Given the description of an element on the screen output the (x, y) to click on. 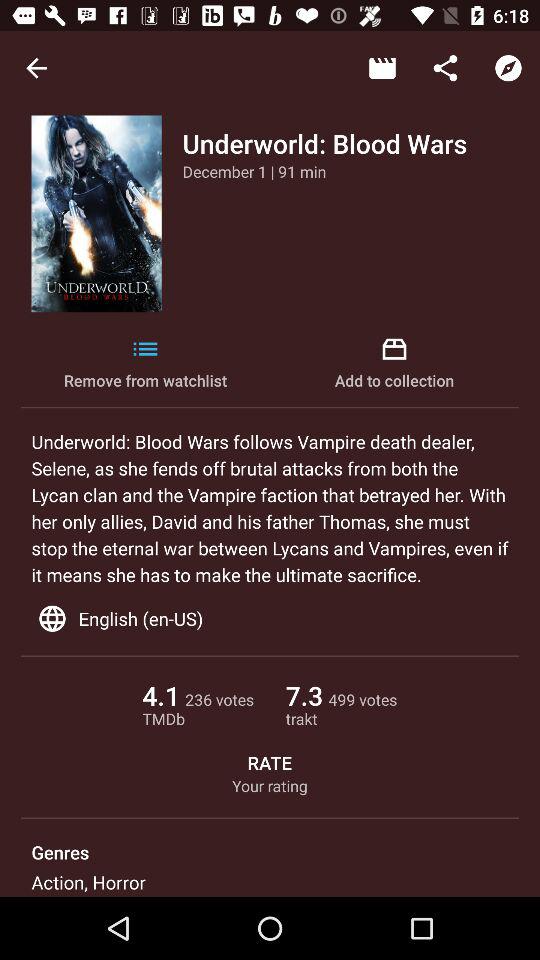
click the item to the right of remove from watchlist icon (394, 364)
